Given the description of an element on the screen output the (x, y) to click on. 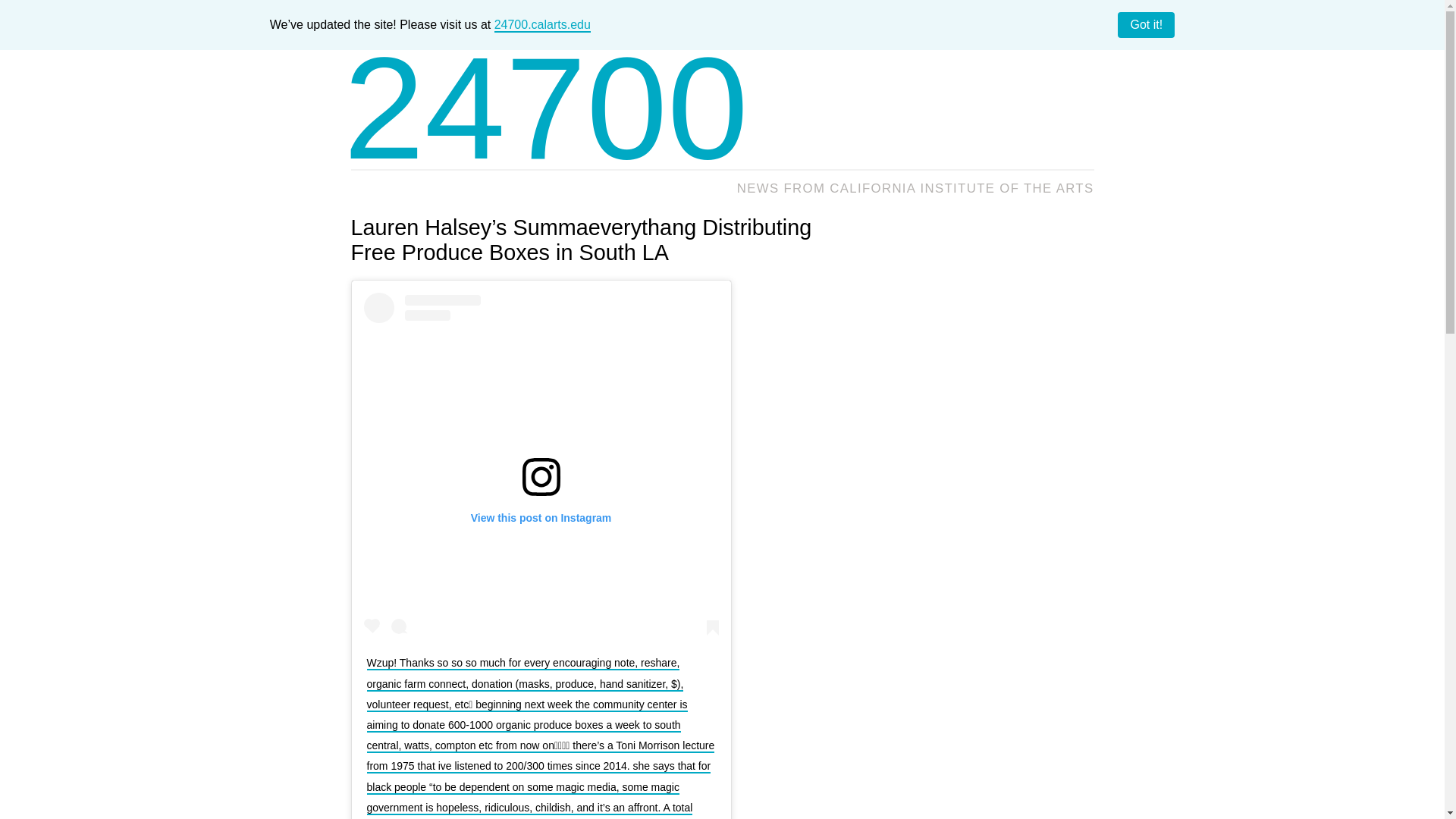
24700.calarts.edu (543, 25)
24700 (545, 107)
Go (1077, 120)
View this post on Instagram (541, 466)
Got it! (1146, 24)
Go (1077, 120)
